Given the description of an element on the screen output the (x, y) to click on. 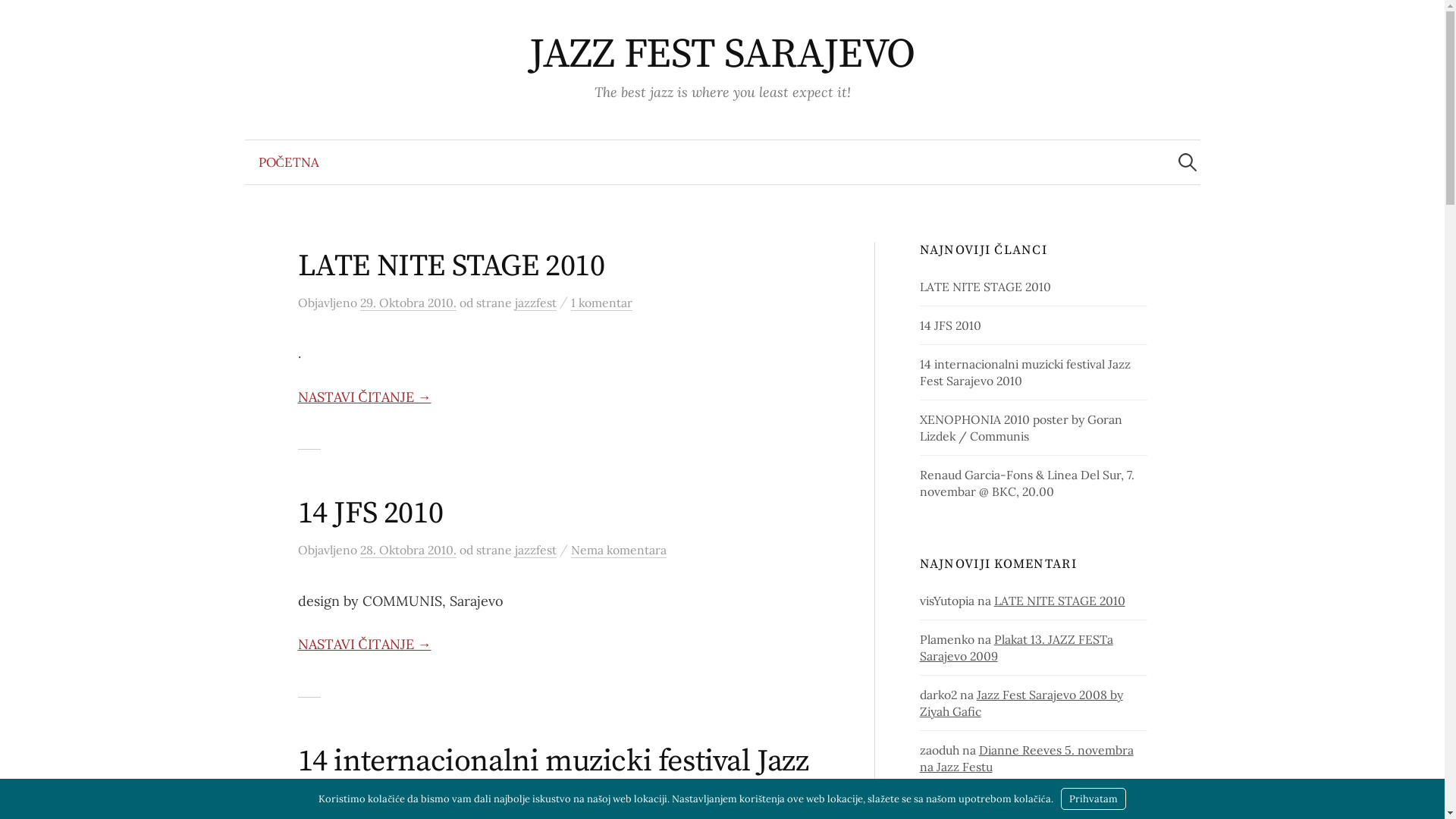
jazzfest Element type: text (534, 550)
14 internacionalni muzicki festival Jazz Fest Sarajevo 2010 Element type: text (552, 779)
LATE NITE STAGE 2010 Element type: text (1059, 600)
1 komentar
na LATE NITE STAGE 2010 Element type: text (600, 302)
LATE NITE STAGE 2010 Element type: text (985, 286)
Nema komentara
na 14 JFS 2010 Element type: text (617, 550)
XENOPHONIA 2010 poster by Goran Lizdek / Communis Element type: text (1020, 427)
Renaud Garcia-Fons & Linea Del Sur, 7. novembar @ BKC, 20.00 Element type: text (1026, 482)
14 internacionalni muzicki festival Jazz Fest Sarajevo 2010 Element type: text (1024, 372)
Plakat 13. JAZZ FESTa Sarajevo 2009 Element type: text (1016, 647)
LATE NITE STAGE 2010 Element type: text (450, 266)
jazzfest Element type: text (534, 302)
28. Oktobra 2010. Element type: text (407, 550)
Dianne Reeves 5. novembra na Jazz Festu Element type: text (1026, 758)
29. Oktobra 2010. Element type: text (407, 302)
14 JFS 2010 Element type: text (369, 513)
Jazz Fest Sarajevo 2008 by Ziyah Gafic Element type: text (1021, 702)
JAZZ FEST SARAJEVO Element type: text (721, 54)
Pretraga Element type: text (18, 18)
14 JFS 2010 Element type: text (950, 324)
Prihvatam Element type: text (1093, 798)
